Given the description of an element on the screen output the (x, y) to click on. 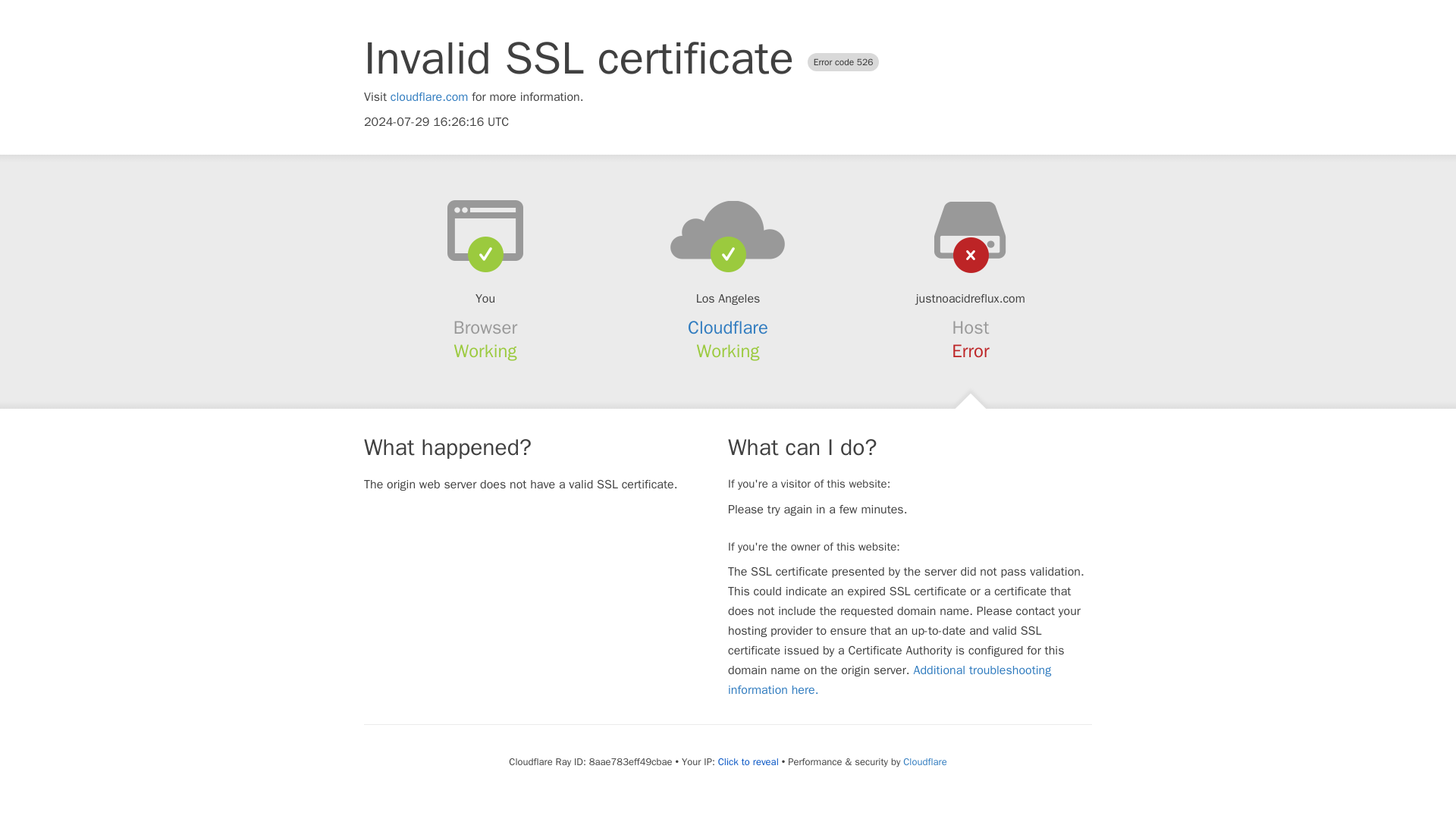
Cloudflare (727, 327)
Additional troubleshooting information here. (889, 679)
Click to reveal (747, 762)
cloudflare.com (429, 96)
Cloudflare (924, 761)
